Given the description of an element on the screen output the (x, y) to click on. 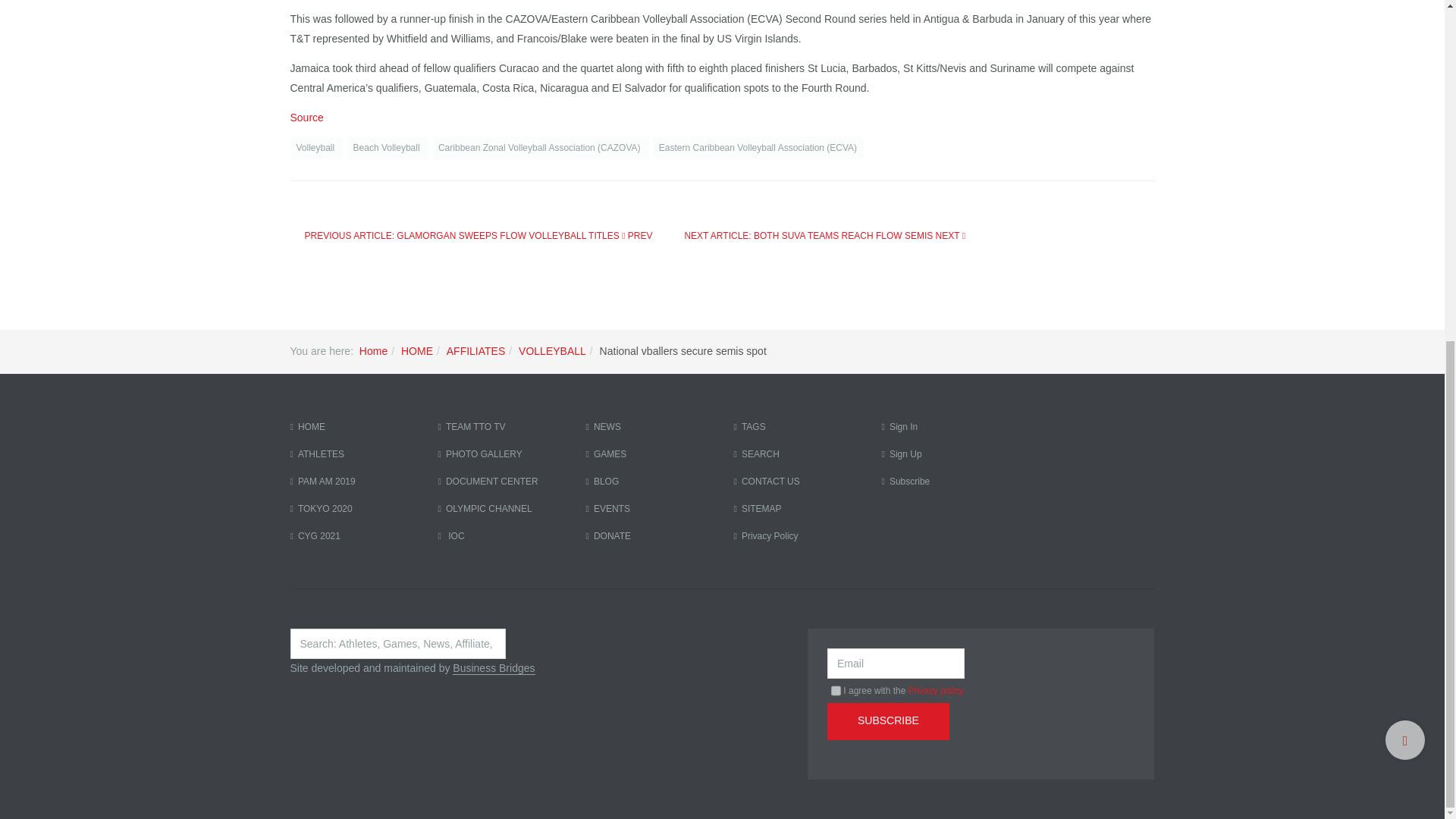
Terms and conditions (836, 690)
Back to Top (1405, 159)
Subscribe (888, 721)
Business Bridges (493, 667)
on (836, 690)
